Given the description of an element on the screen output the (x, y) to click on. 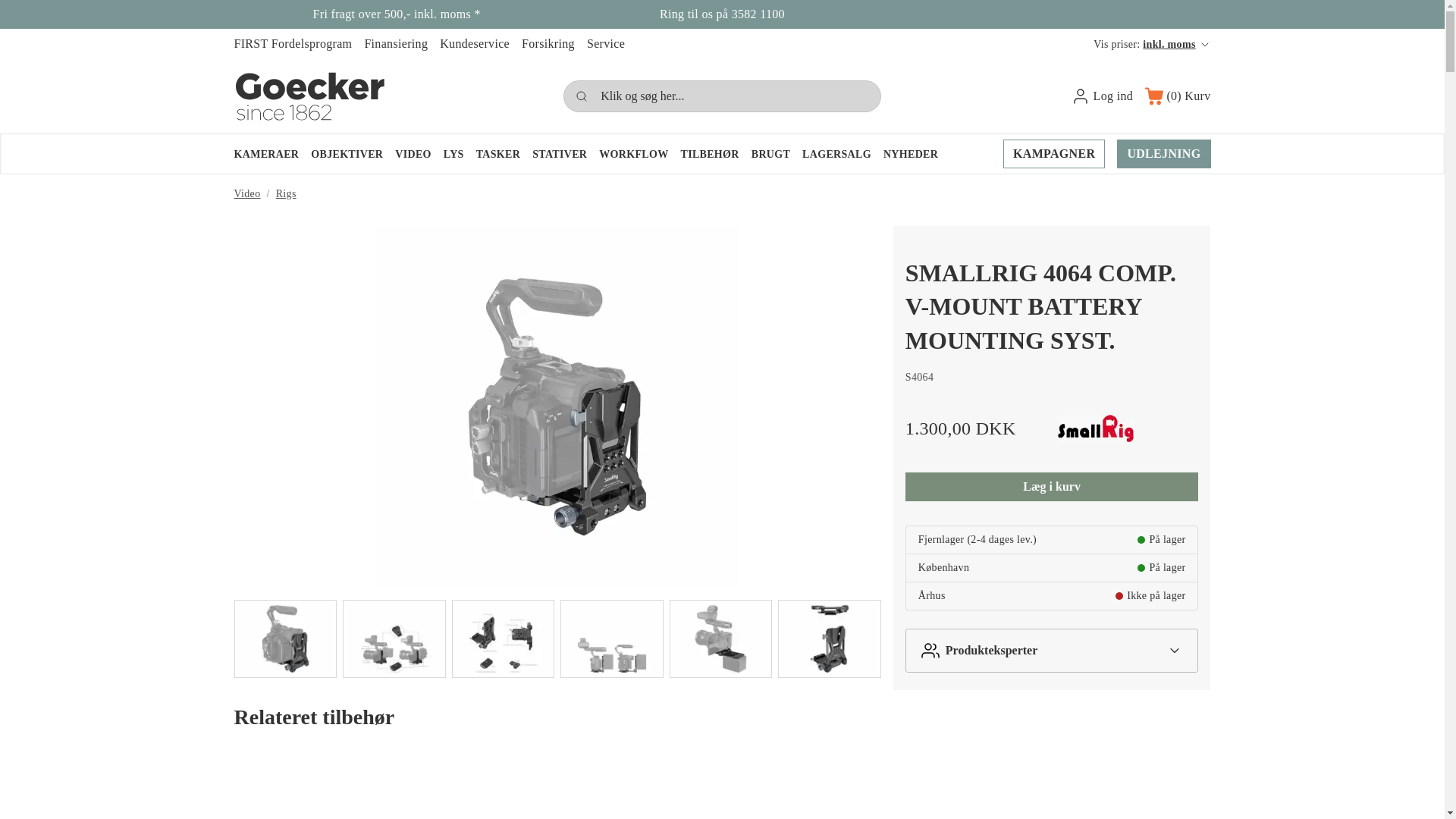
Kundeservice (474, 43)
FIRST Fordelsprogram (292, 43)
Log ind (1101, 96)
Service (605, 43)
Forsikring (547, 43)
Finansiering (395, 43)
